Given the description of an element on the screen output the (x, y) to click on. 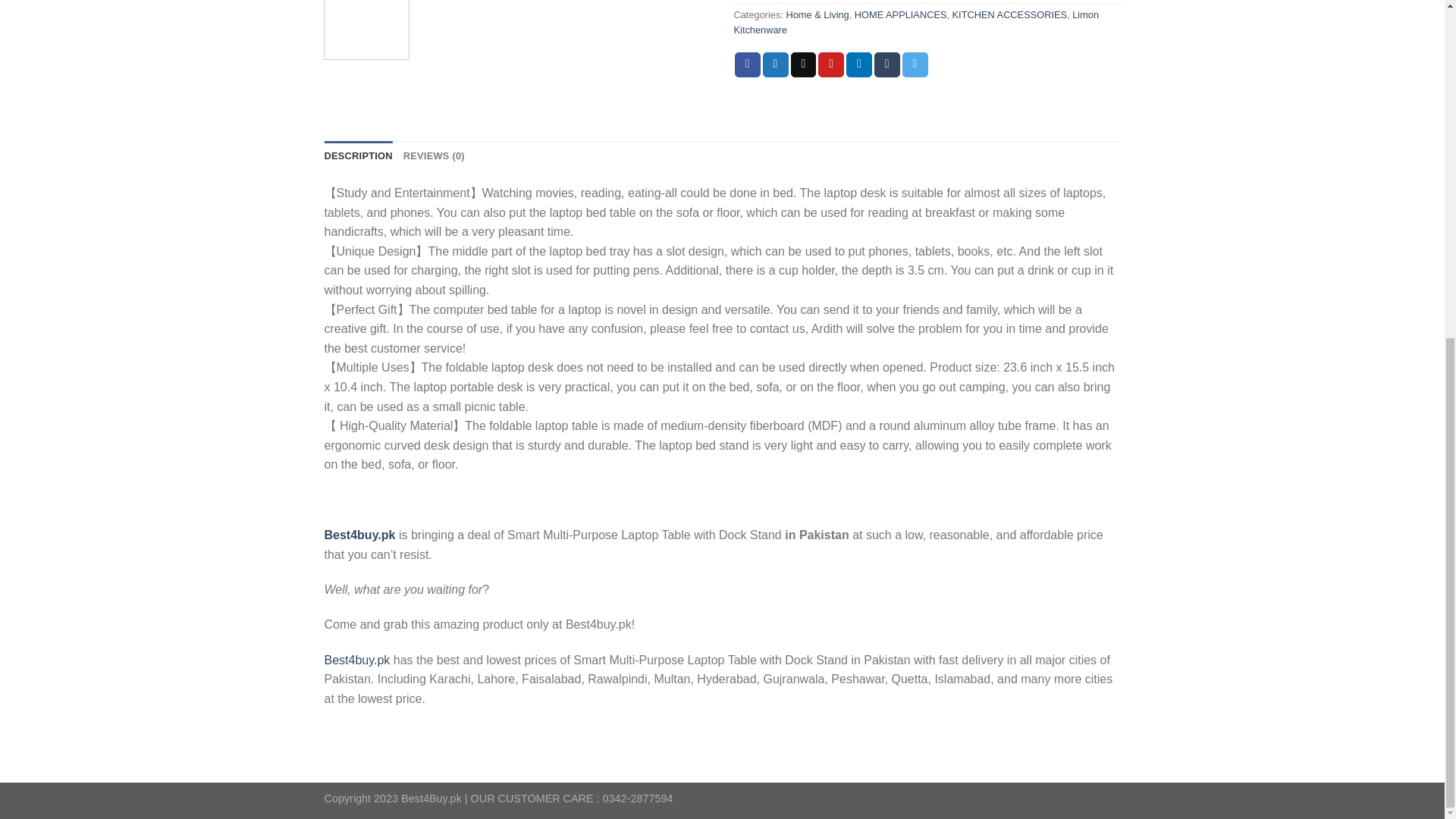
Limon Kitchenware (916, 22)
Share on Tumblr (887, 64)
Share on Facebook (747, 64)
Share on Twitter (775, 64)
Share on LinkedIn (858, 64)
KITCHEN ACCESSORIES (1009, 14)
Pin on Pinterest (831, 64)
HOME APPLIANCES (900, 14)
Share on Telegram (915, 64)
Email to a Friend (803, 64)
